Given the description of an element on the screen output the (x, y) to click on. 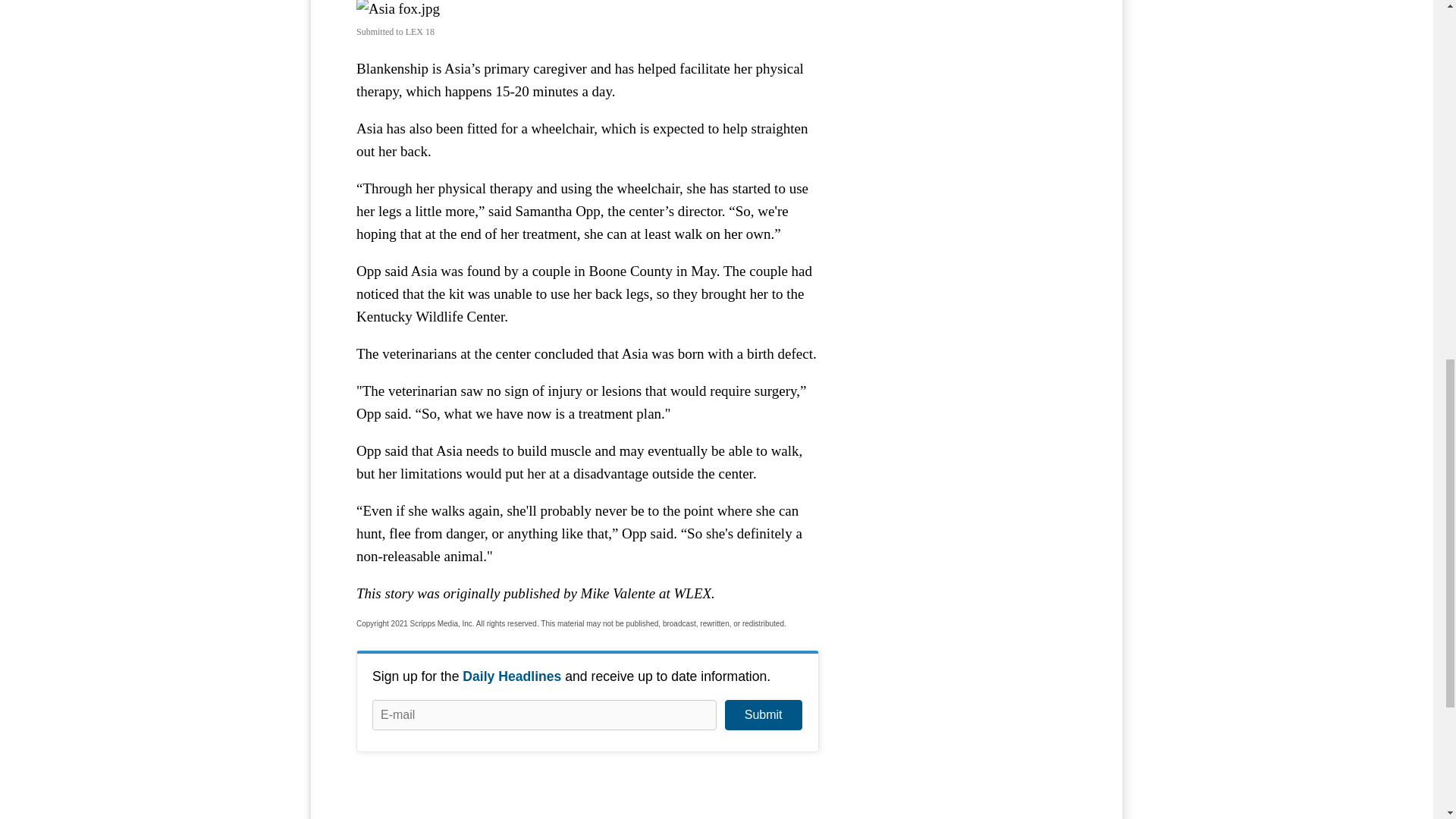
Submit (763, 715)
